Given the description of an element on the screen output the (x, y) to click on. 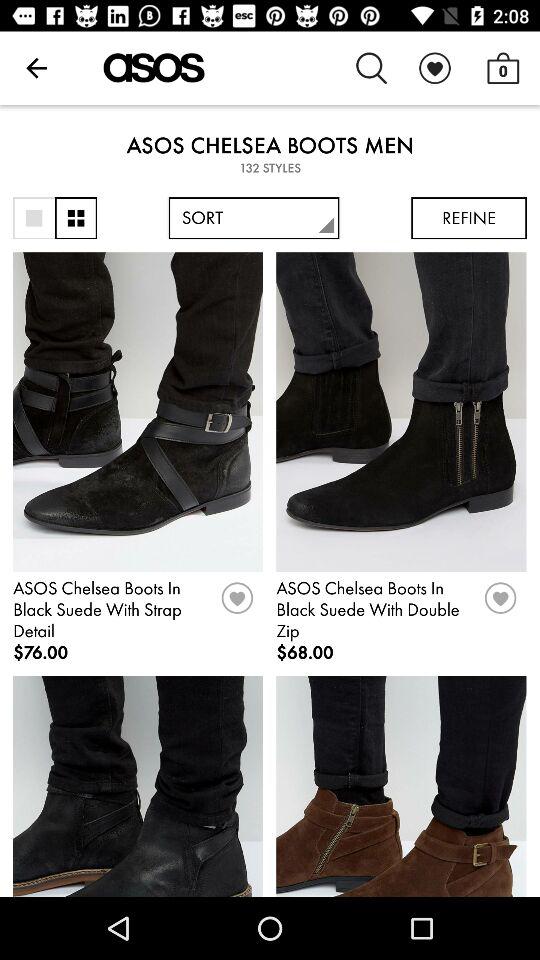
jump to sort item (253, 218)
